Given the description of an element on the screen output the (x, y) to click on. 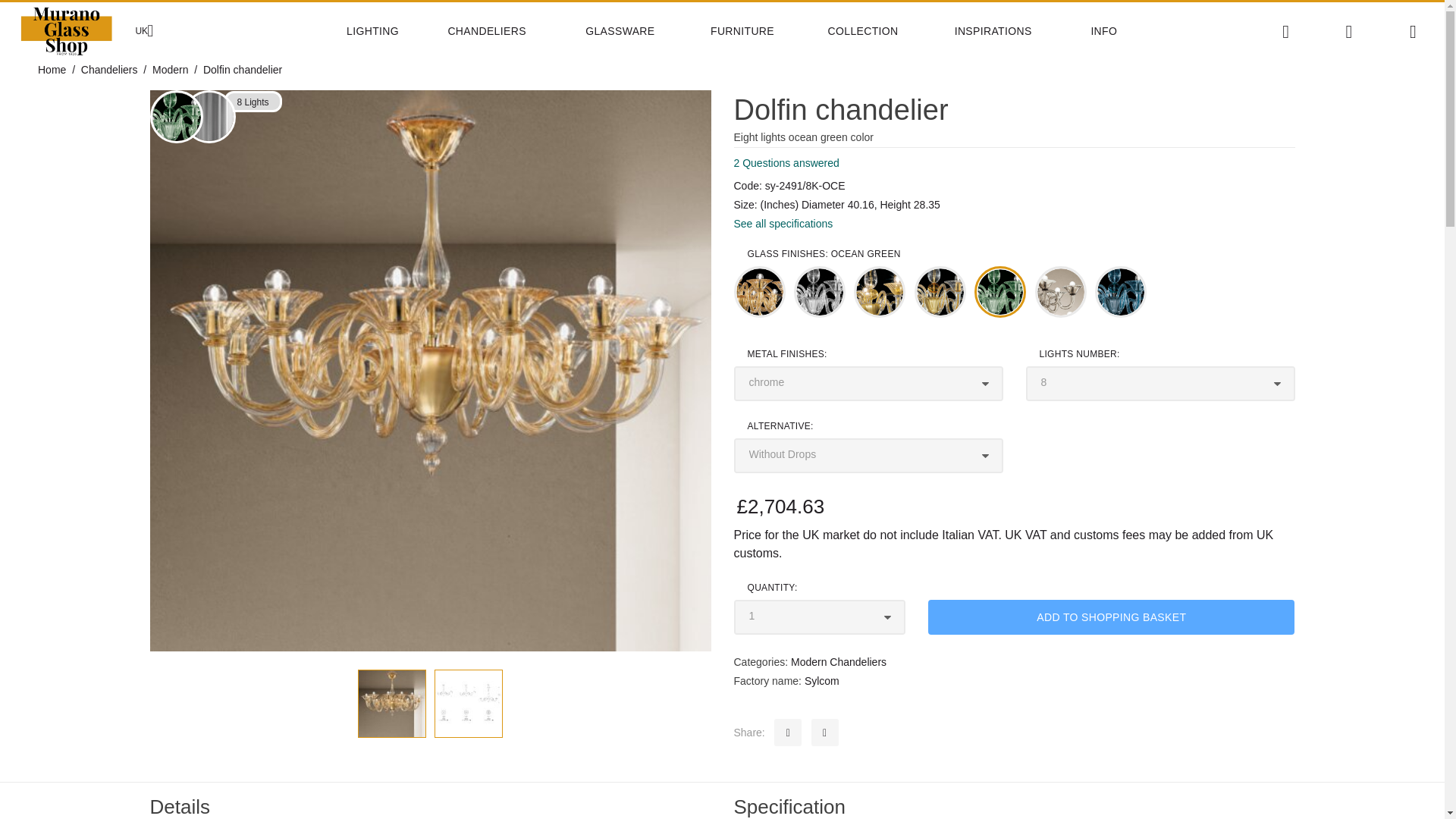
Account (1348, 31)
Shopping Basket (1412, 31)
Glass finishes: Ocean green (176, 116)
Glass finishes: Denim Blue (1120, 291)
Glass finishes: Crystal and Amber (940, 291)
Metal finishes: chrome (208, 116)
CHANDELIERS (506, 31)
Search (1285, 31)
Glass finishes: Ocean green (1000, 291)
LIGHTING (387, 31)
GLASSWARE (637, 31)
Glass finishes: Crystal (819, 291)
Glass finishes: Crystal with 24k gold (879, 291)
Glass finishes: Smoked (1060, 291)
FURNITURE (759, 31)
